Given the description of an element on the screen output the (x, y) to click on. 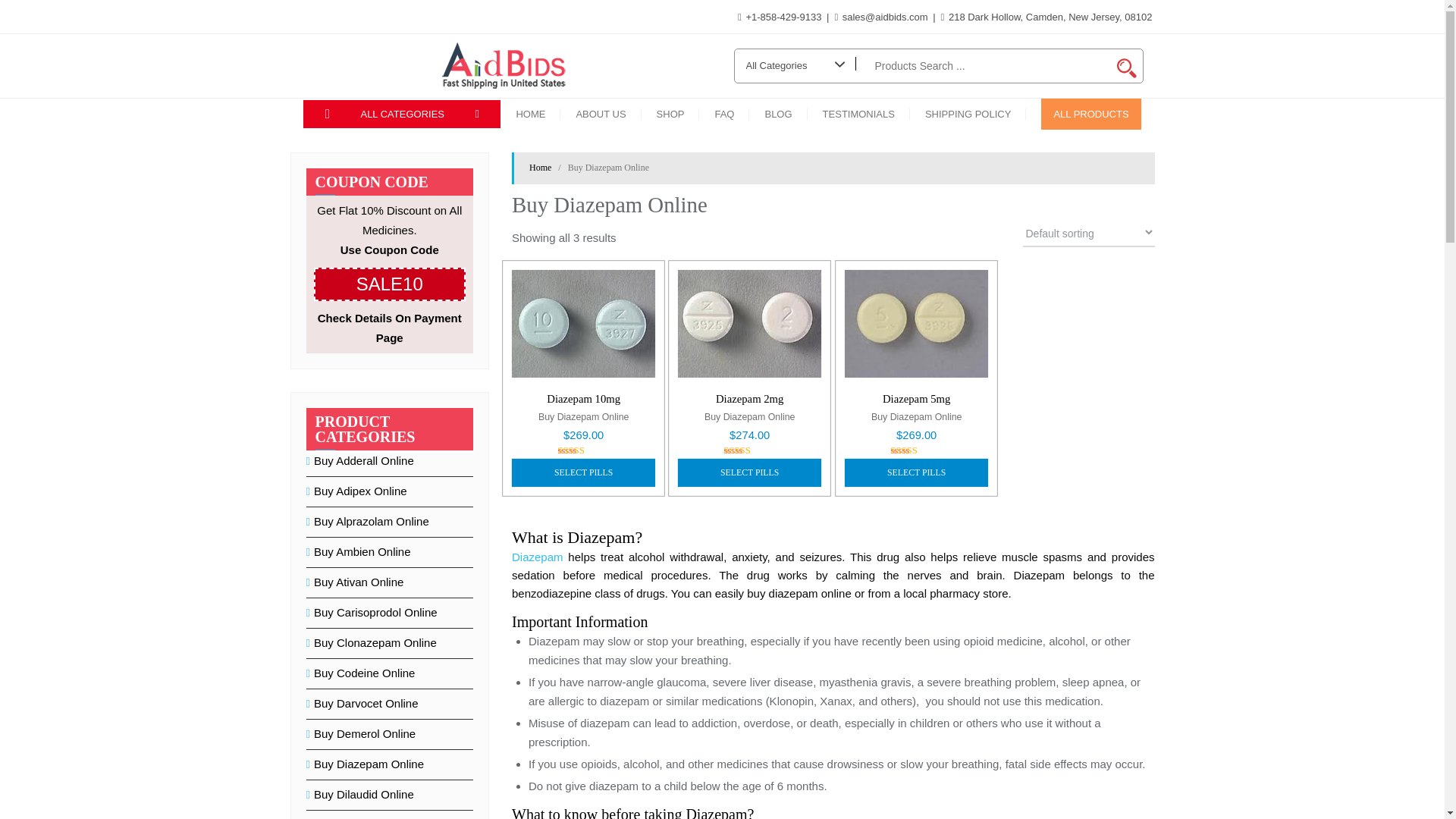
ALL CATEGORIES (401, 113)
